Given the description of an element on the screen output the (x, y) to click on. 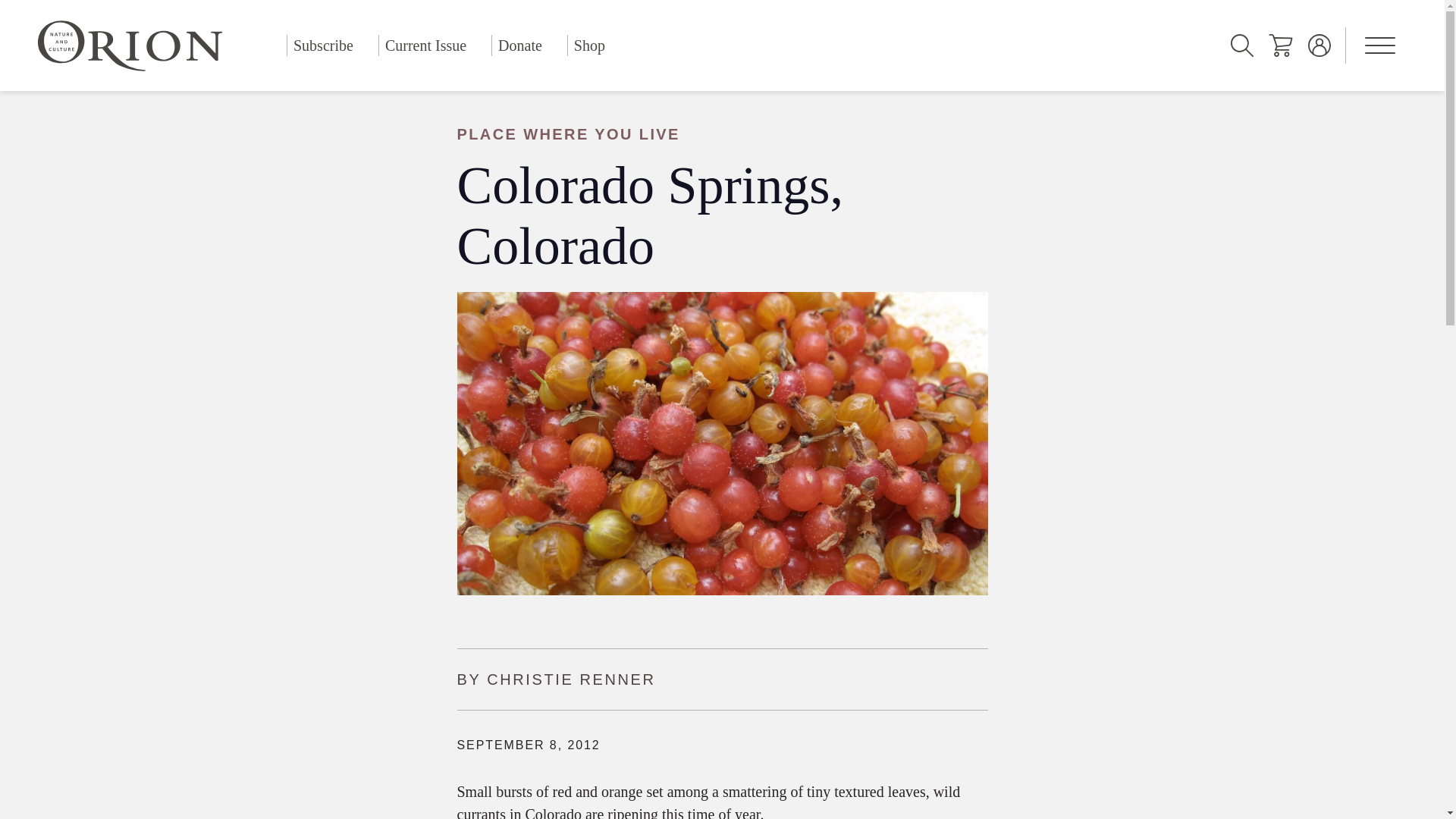
Cart (1280, 45)
Subscribe (322, 45)
Account Dashboard (1319, 45)
Search (1242, 45)
Shop (589, 45)
Donate (520, 45)
PLACE WHERE YOU LIVE (721, 134)
Current Issue (424, 45)
SEPTEMBER 8, 2012 (528, 744)
